Given the description of an element on the screen output the (x, y) to click on. 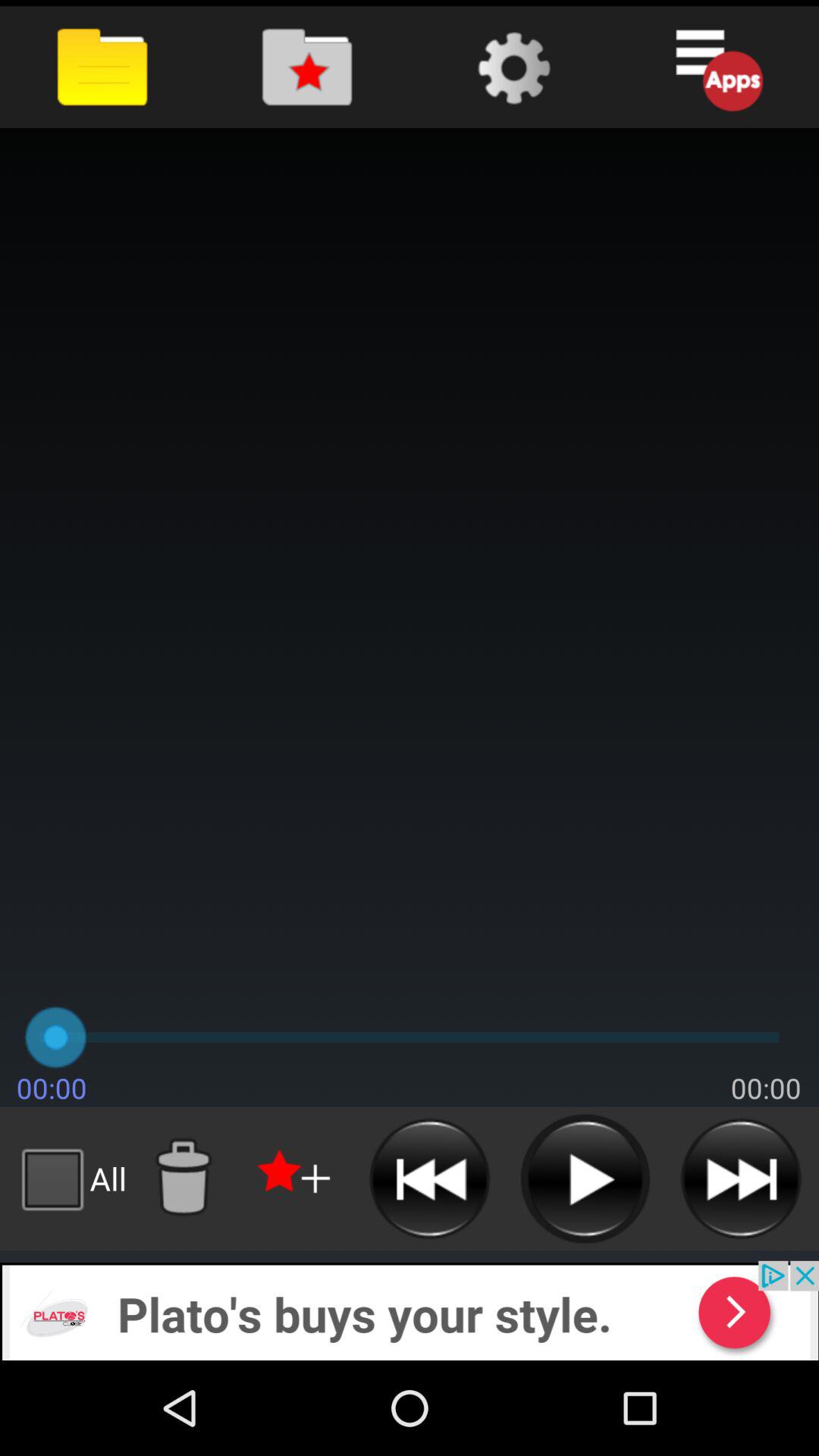
select advertisement (409, 1310)
